Given the description of an element on the screen output the (x, y) to click on. 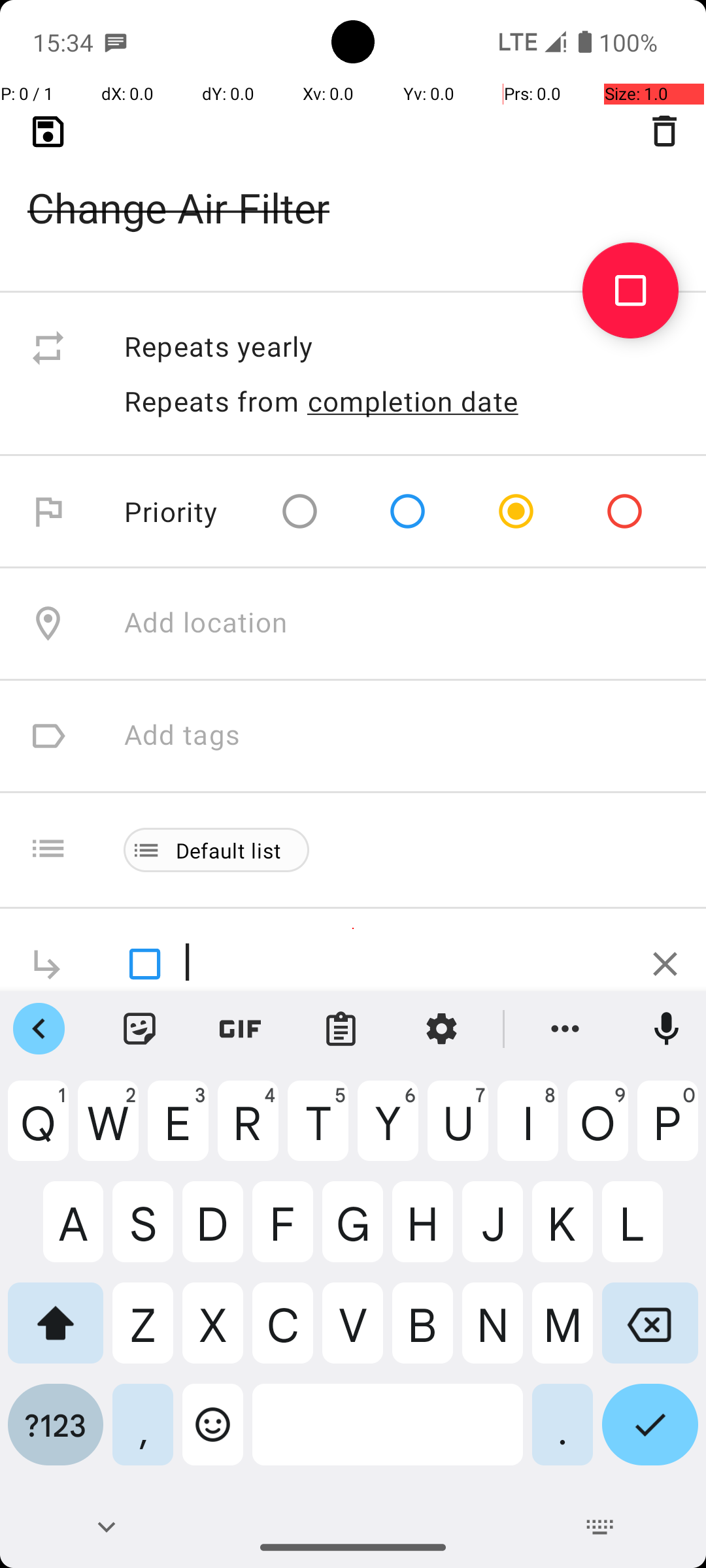
Wednesday, October 4 Element type: android.widget.TextView (267, 122)
Repeats yearly Element type: android.widget.TextView (400, 347)
Repeats from Element type: android.widget.TextView (211, 400)
completion date Element type: android.widget.TextView (413, 400)
